Given the description of an element on the screen output the (x, y) to click on. 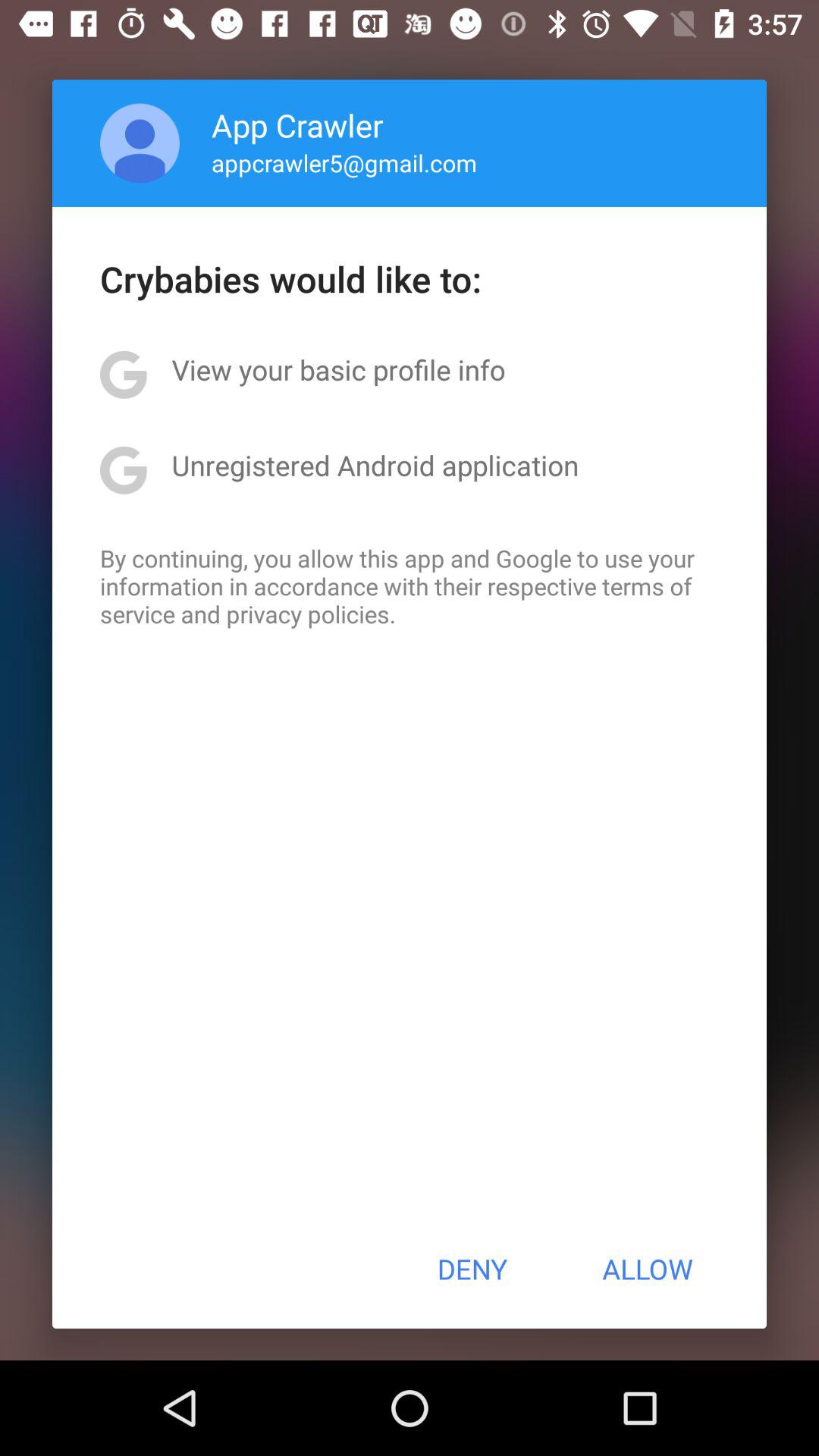
turn on appcrawler5@gmail.com icon (344, 162)
